Given the description of an element on the screen output the (x, y) to click on. 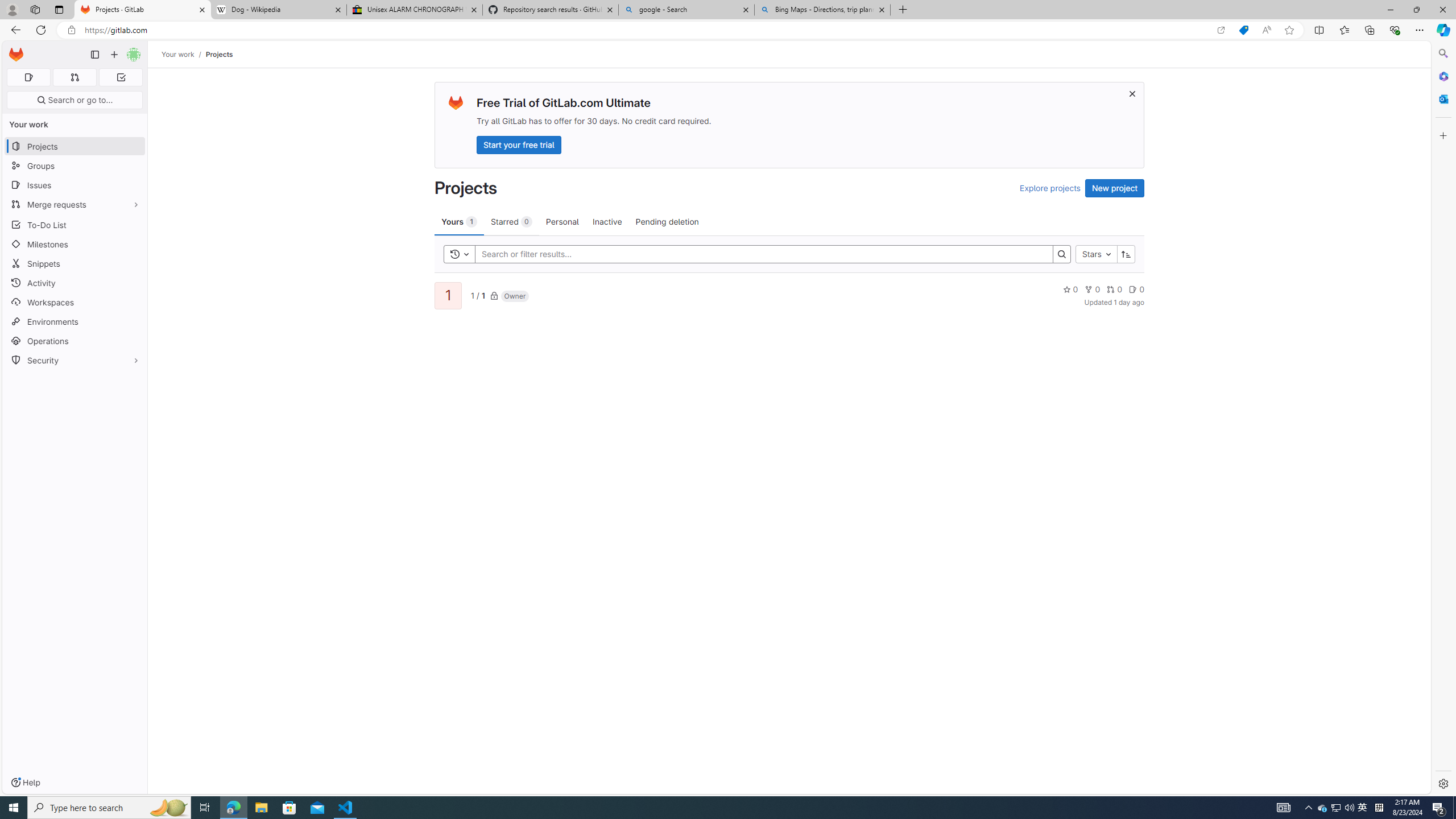
Issues (74, 185)
Milestones (74, 244)
Toggle history (460, 253)
Security (74, 359)
1 / 1 (477, 294)
Stars (1096, 253)
Class: s16 (494, 295)
Sort direction: Ascending (1125, 253)
Activity (74, 282)
